Given the description of an element on the screen output the (x, y) to click on. 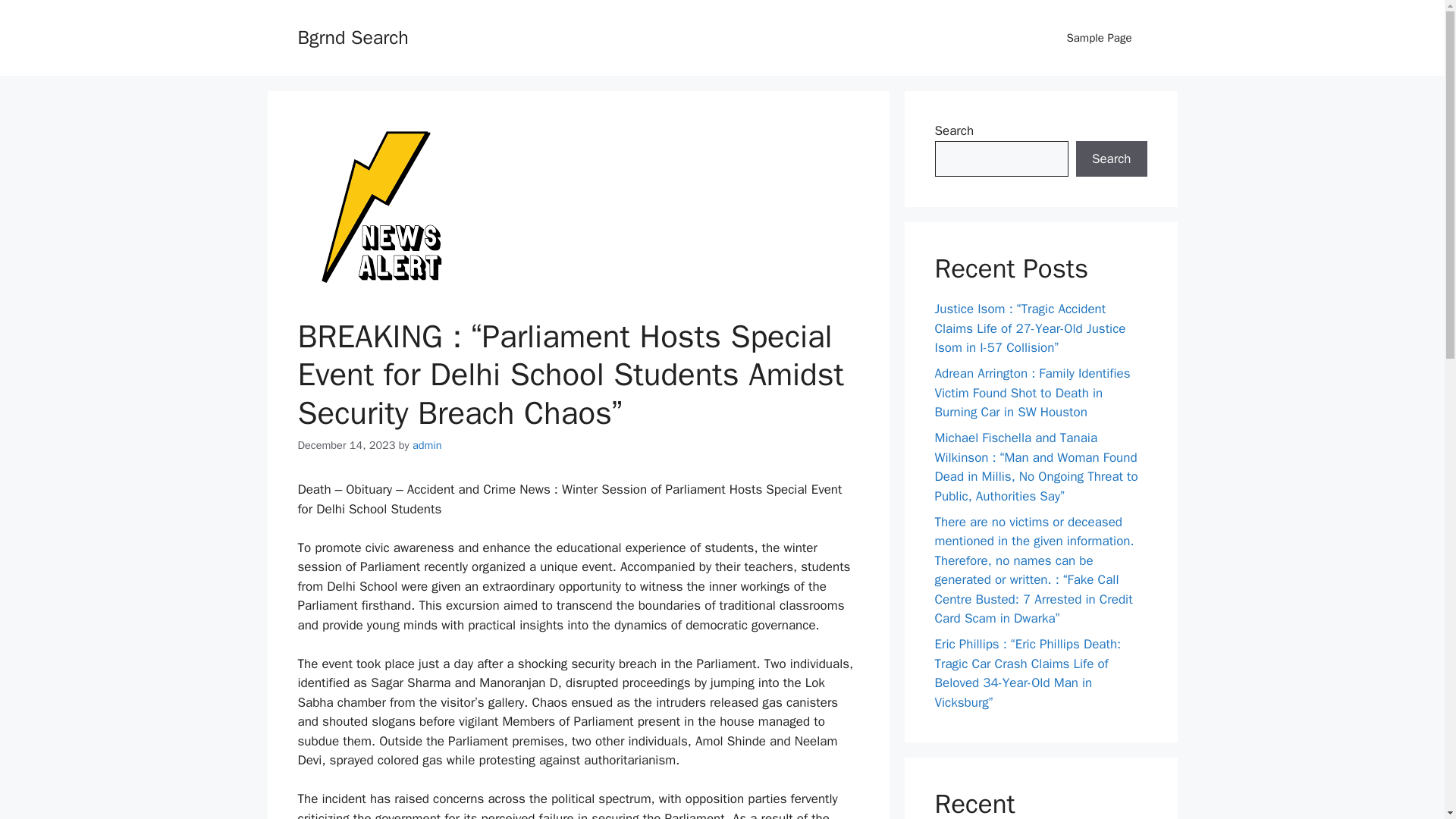
View all posts by admin (427, 445)
Bgrnd Search (352, 37)
Sample Page (1099, 37)
admin (427, 445)
Search (1111, 158)
